Given the description of an element on the screen output the (x, y) to click on. 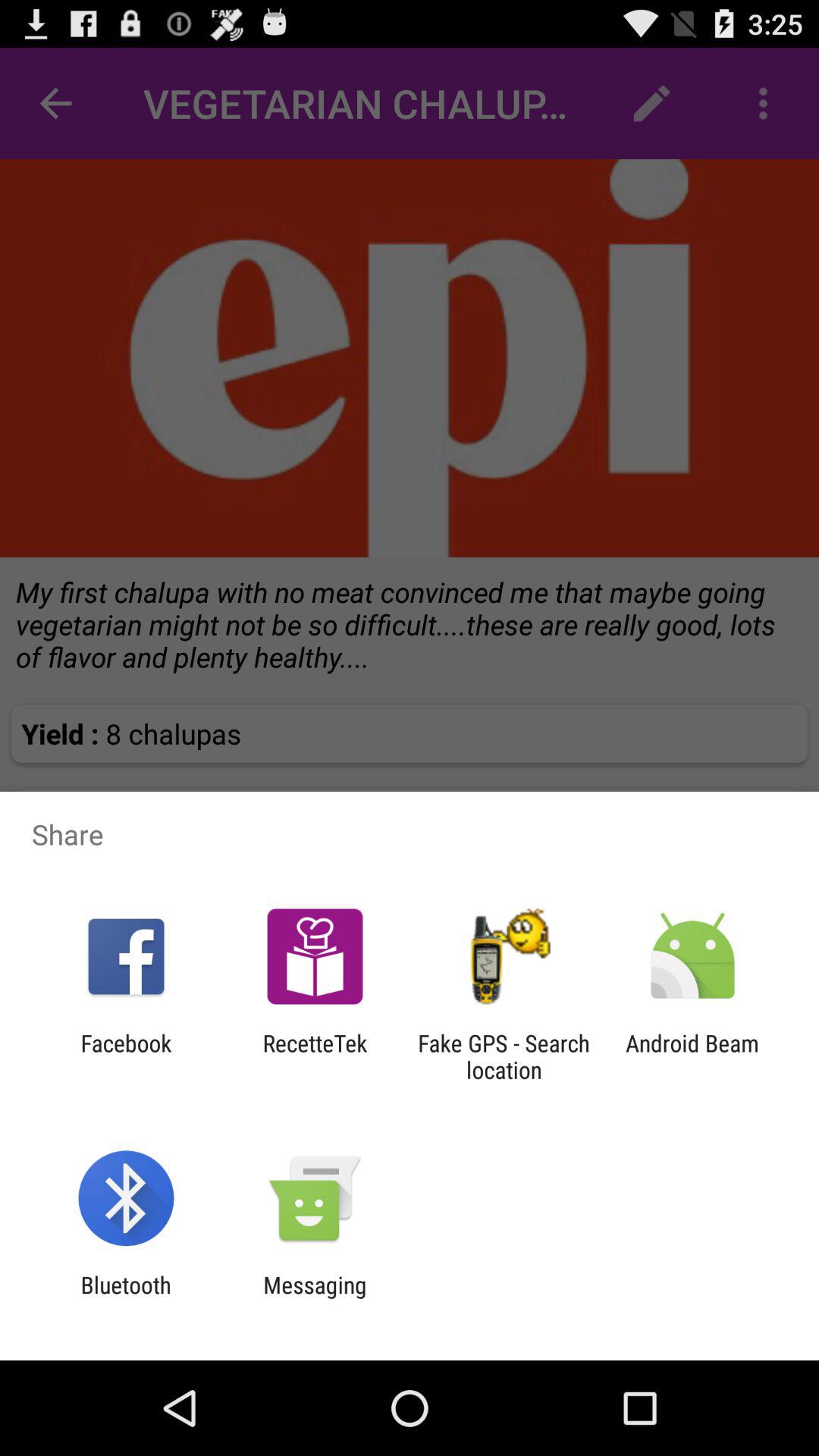
flip to the bluetooth (125, 1298)
